Given the description of an element on the screen output the (x, y) to click on. 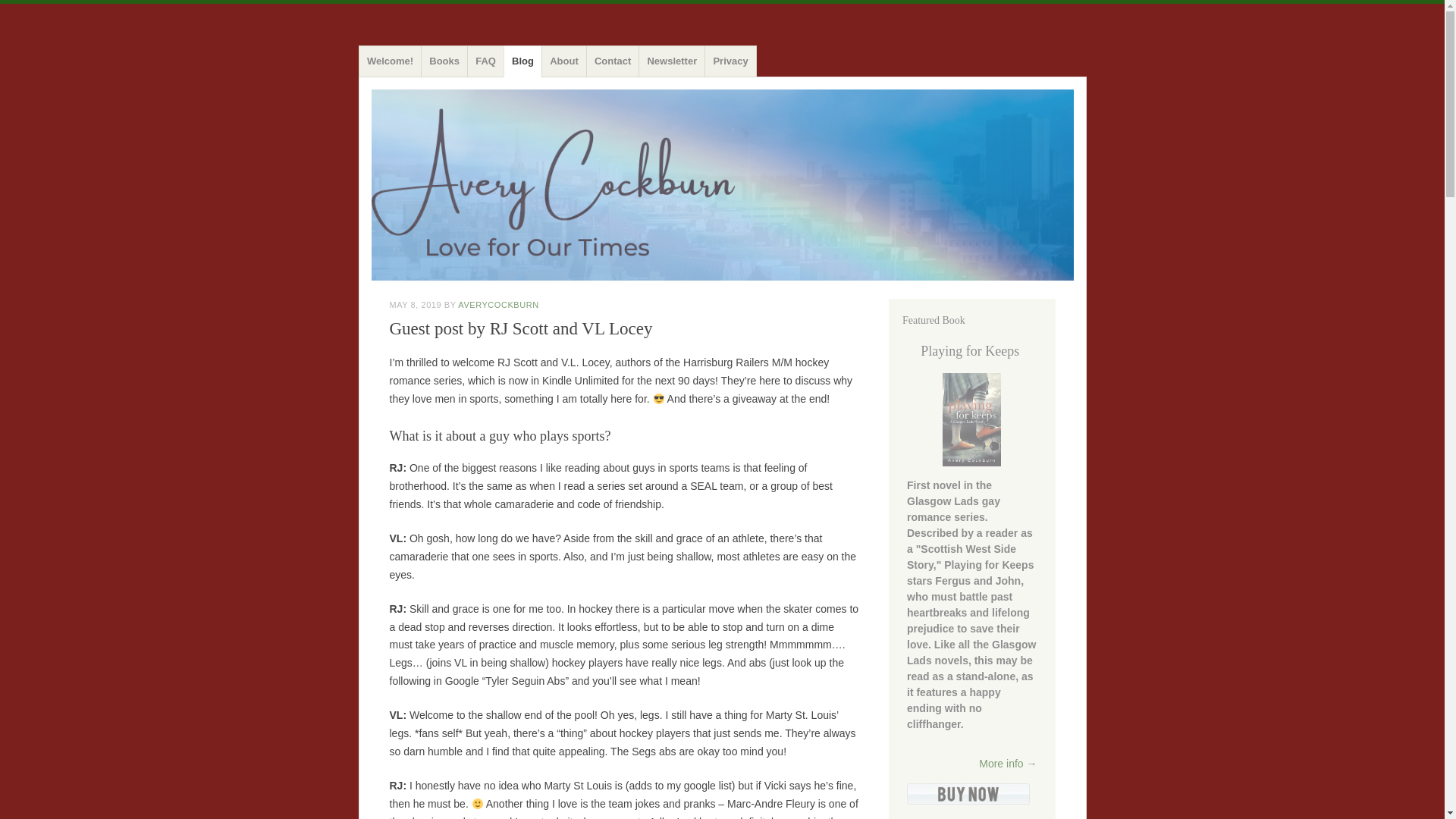
MAY 8, 2019 (416, 304)
View all posts by averycockburn (498, 304)
12:00 am (416, 304)
AVERYCOCKBURN (498, 304)
Playing for Keeps (969, 350)
Blog (523, 60)
About (563, 60)
Avery Cockburn (450, 60)
FAQ (486, 60)
Privacy (730, 60)
Welcome! (390, 60)
Contact (613, 60)
Newsletter (672, 60)
Avery Cockburn (450, 60)
